Given the description of an element on the screen output the (x, y) to click on. 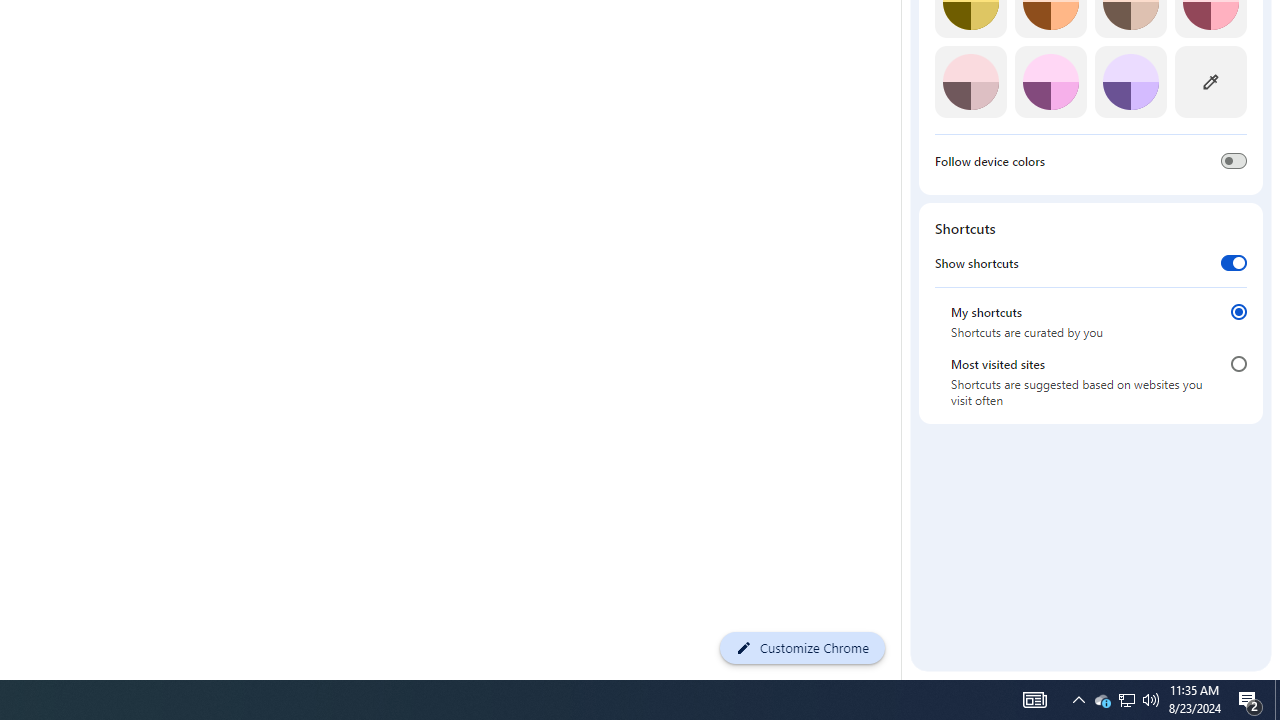
Most visited sites (1238, 363)
My shortcuts (1238, 311)
Violet (1130, 82)
Follow device colors (1233, 160)
Side Panel Resize Handle (905, 22)
Pink (970, 82)
Custom color (1210, 82)
Fuchsia (1050, 82)
Show shortcuts (1233, 262)
